Given the description of an element on the screen output the (x, y) to click on. 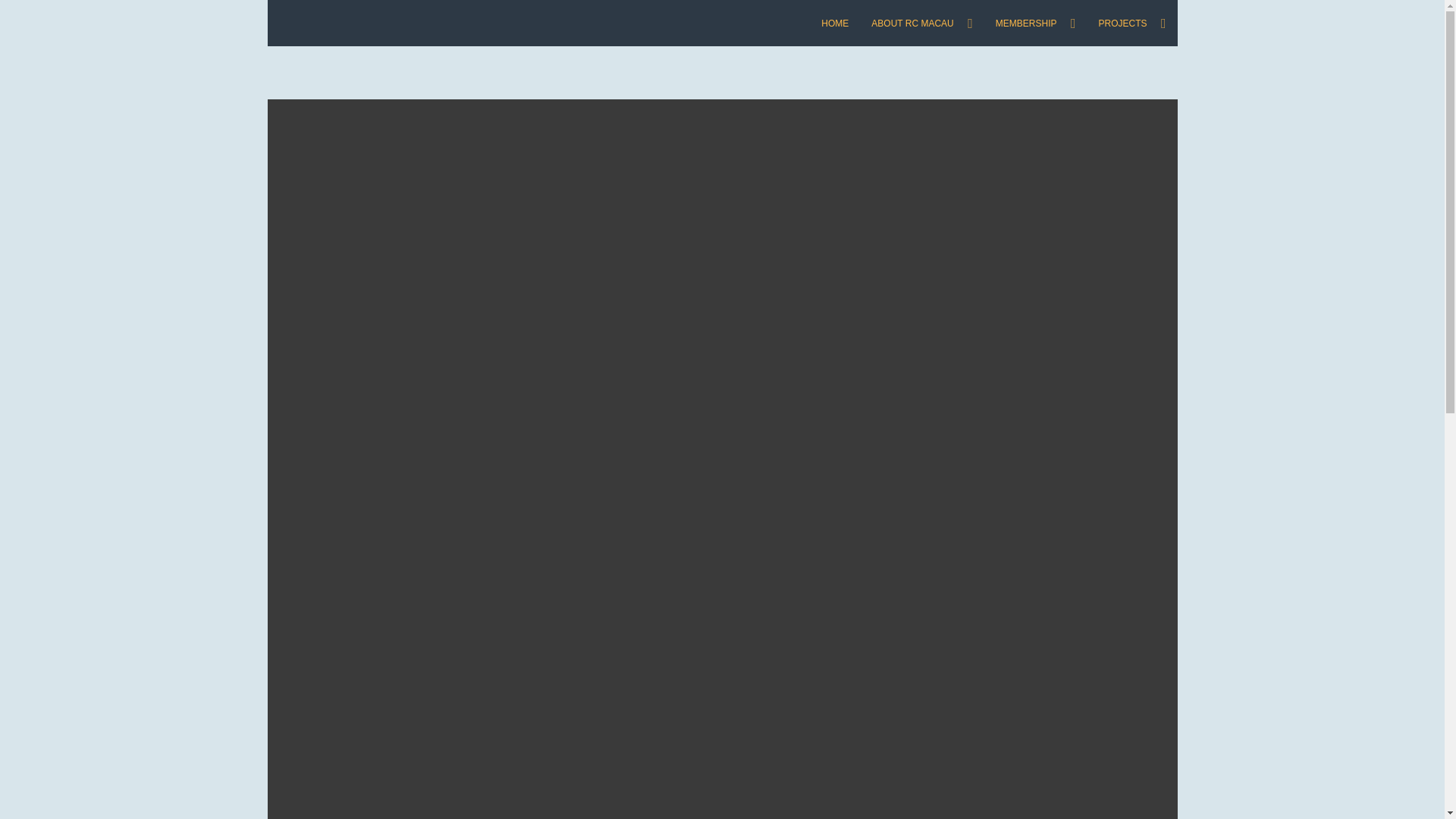
MEMBERSHIP (1035, 22)
HOME (834, 22)
ABOUT RC MACAU (922, 22)
PROJECTS (1131, 22)
